Given the description of an element on the screen output the (x, y) to click on. 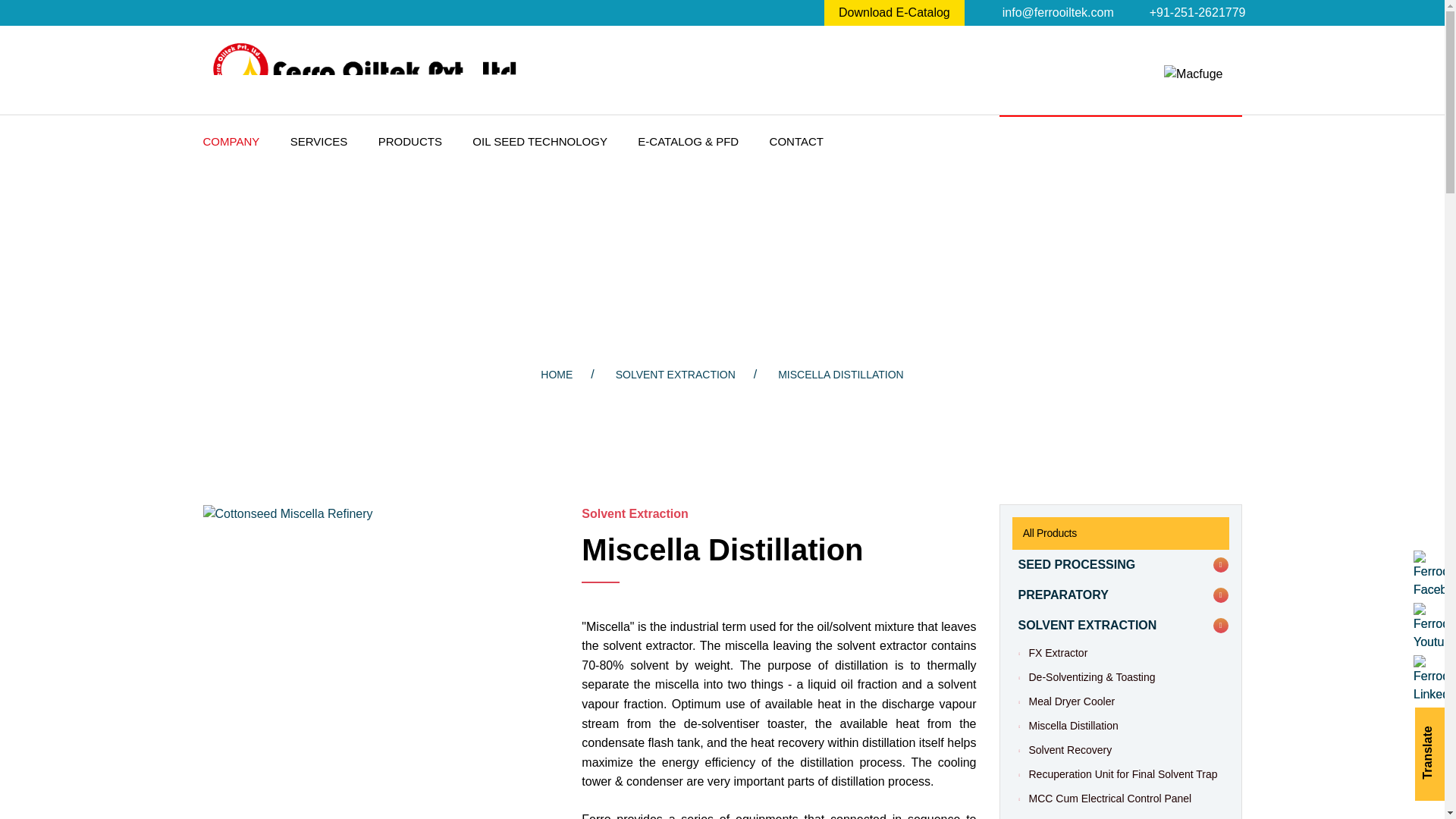
Ferro Oiltek Pvt. Ltd. (368, 70)
Download E-Catalog (893, 12)
Macfuge (1193, 74)
